Given the description of an element on the screen output the (x, y) to click on. 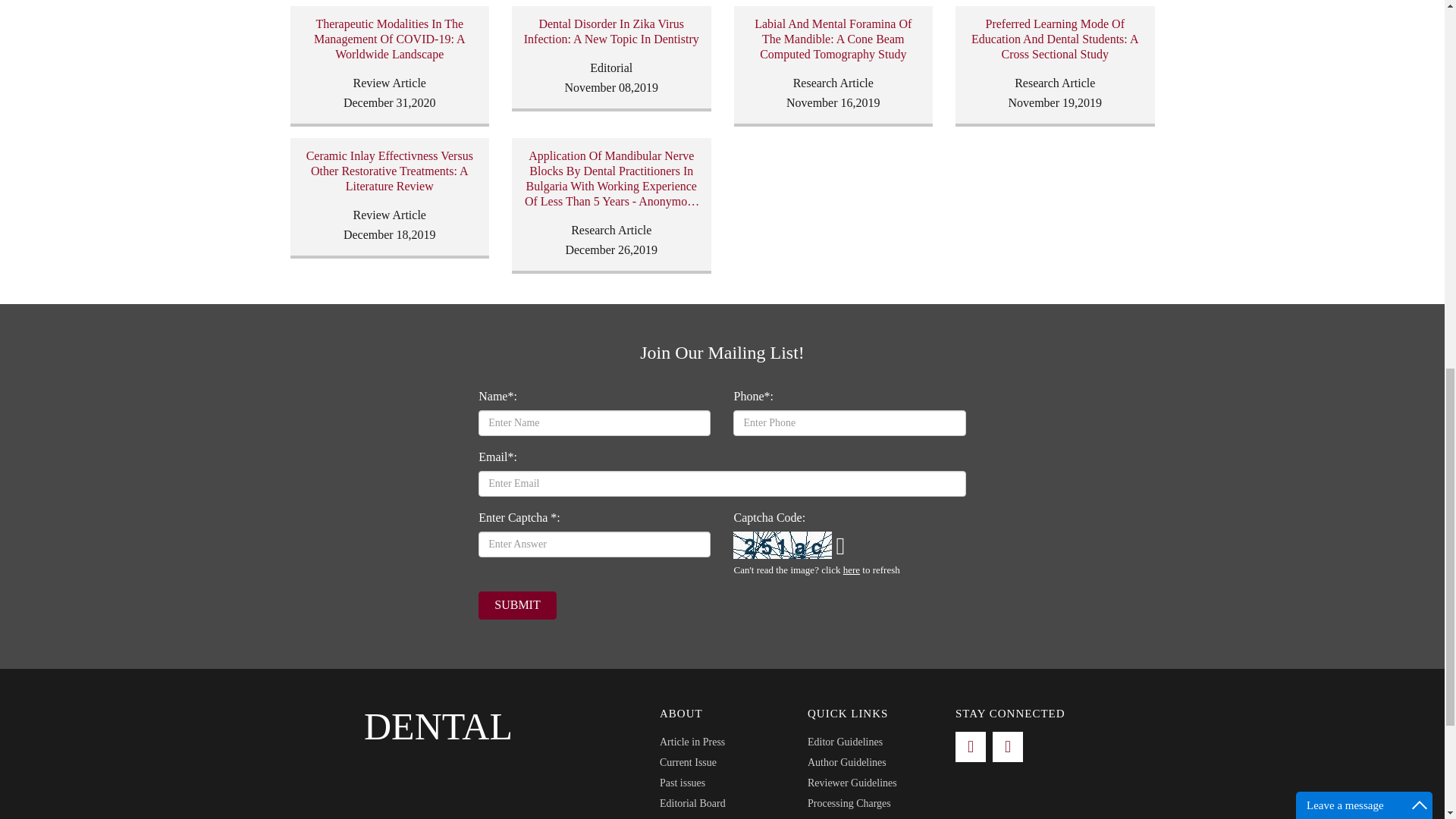
SUBMIT (517, 605)
here (851, 569)
